Given the description of an element on the screen output the (x, y) to click on. 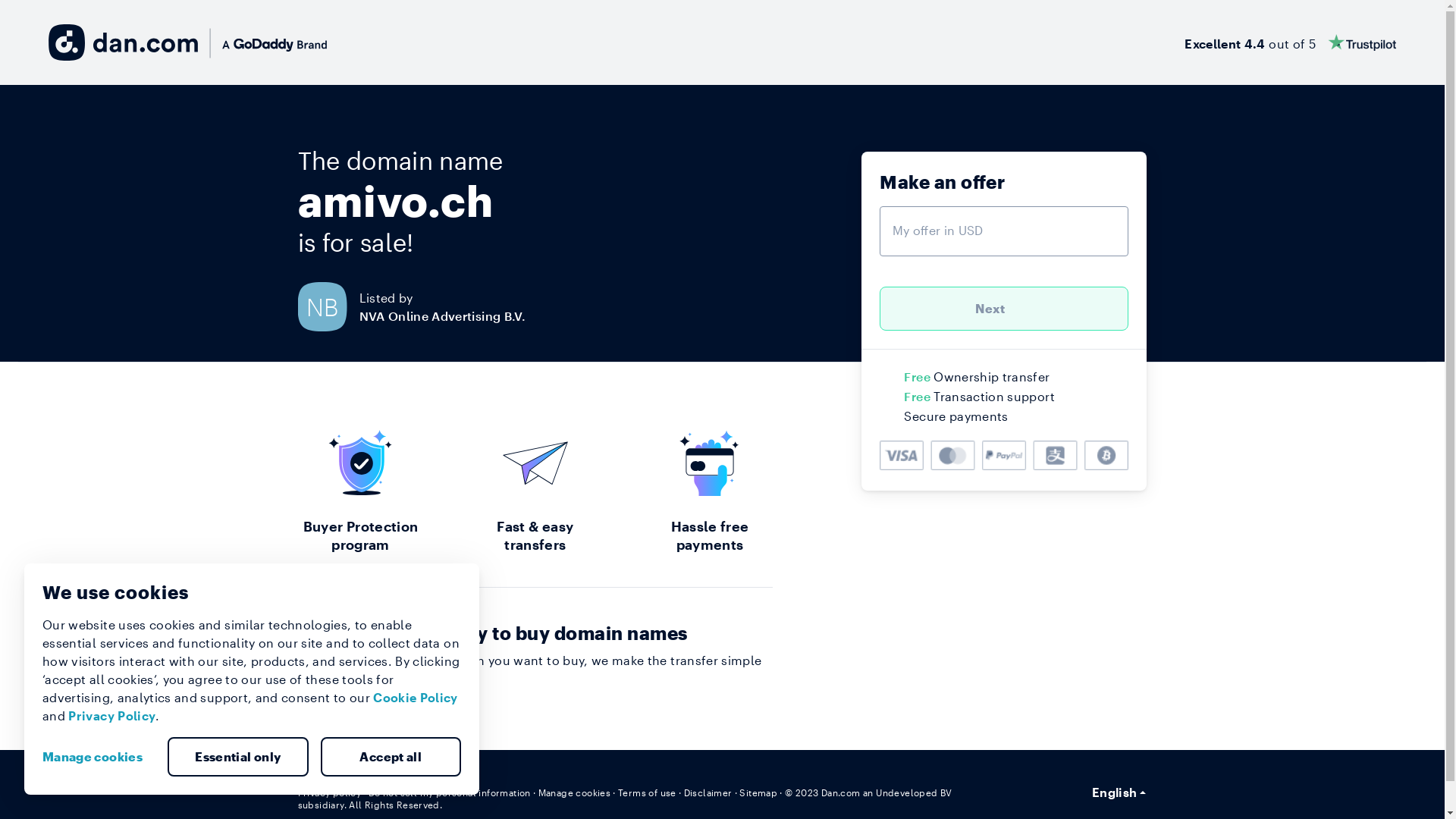
English Element type: text (1119, 792)
Terms of use Element type: text (647, 792)
Accept all Element type: text (390, 756)
Manage cookies Element type: text (574, 792)
Sitemap Element type: text (758, 792)
Do not sell my personal information Element type: text (449, 792)
Essential only Element type: text (237, 756)
Disclaimer Element type: text (708, 792)
Cookie Policy Element type: text (415, 697)
Next
) Element type: text (1003, 308)
Manage cookies Element type: text (98, 756)
Privacy policy Element type: text (328, 792)
Privacy Policy Element type: text (111, 715)
Excellent 4.4 out of 5 Element type: text (1290, 42)
